Given the description of an element on the screen output the (x, y) to click on. 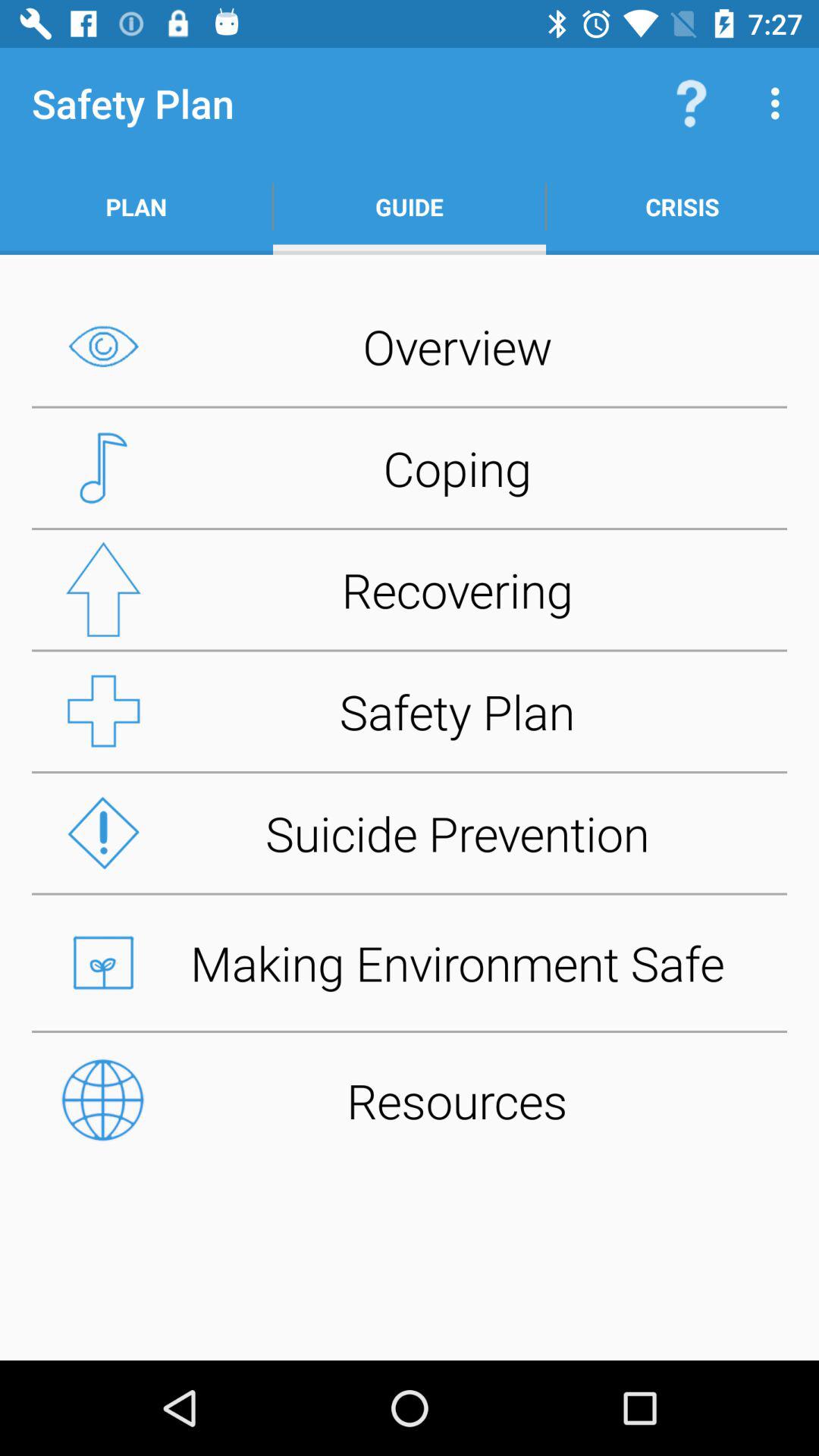
select the icon above the crisis item (691, 103)
